Given the description of an element on the screen output the (x, y) to click on. 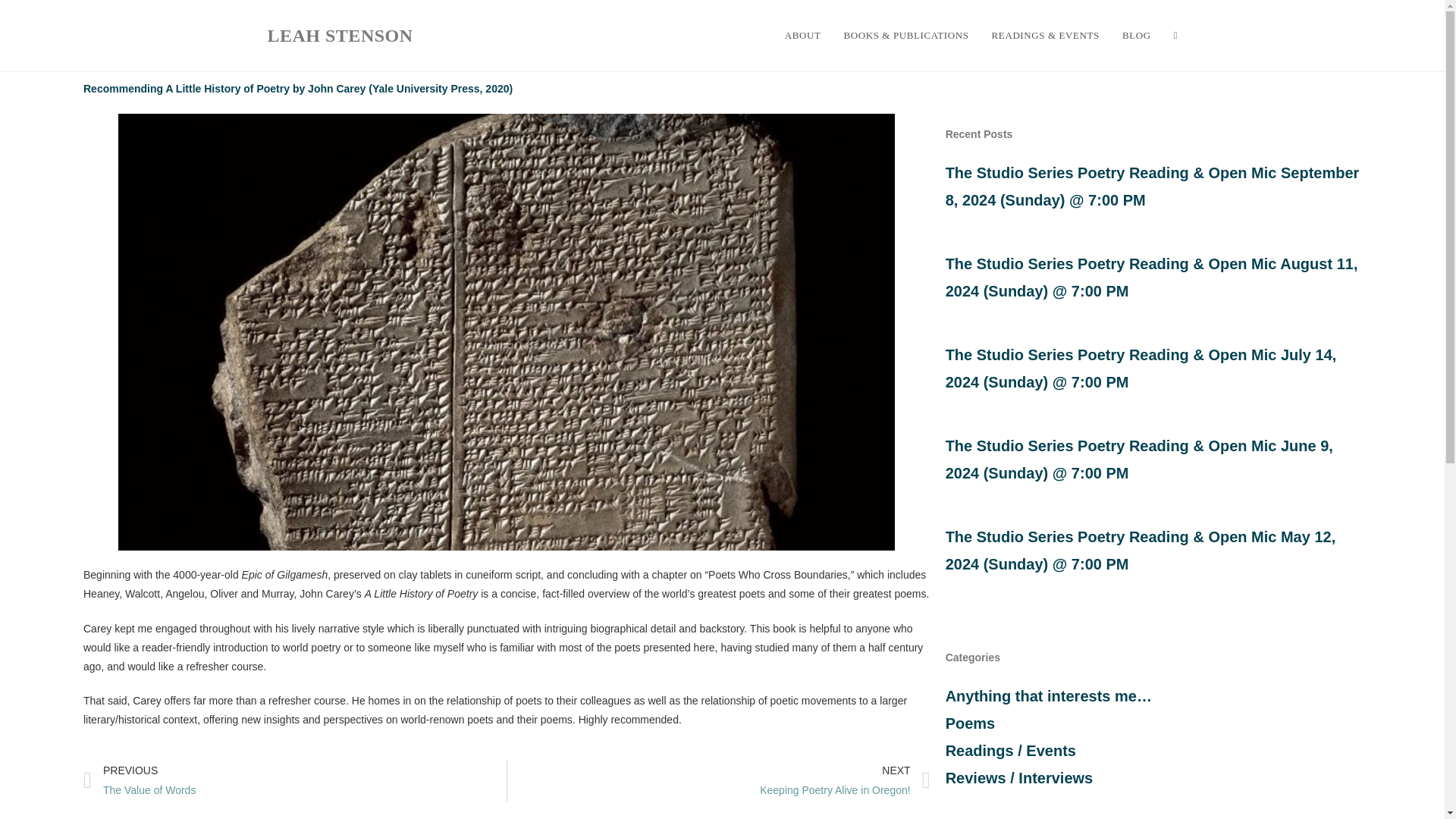
ABOUT LEAH STENSON (845, 780)
ABOUT (802, 35)
LEAH STENSON (802, 35)
BLOG (294, 780)
Poems (339, 35)
